Given the description of an element on the screen output the (x, y) to click on. 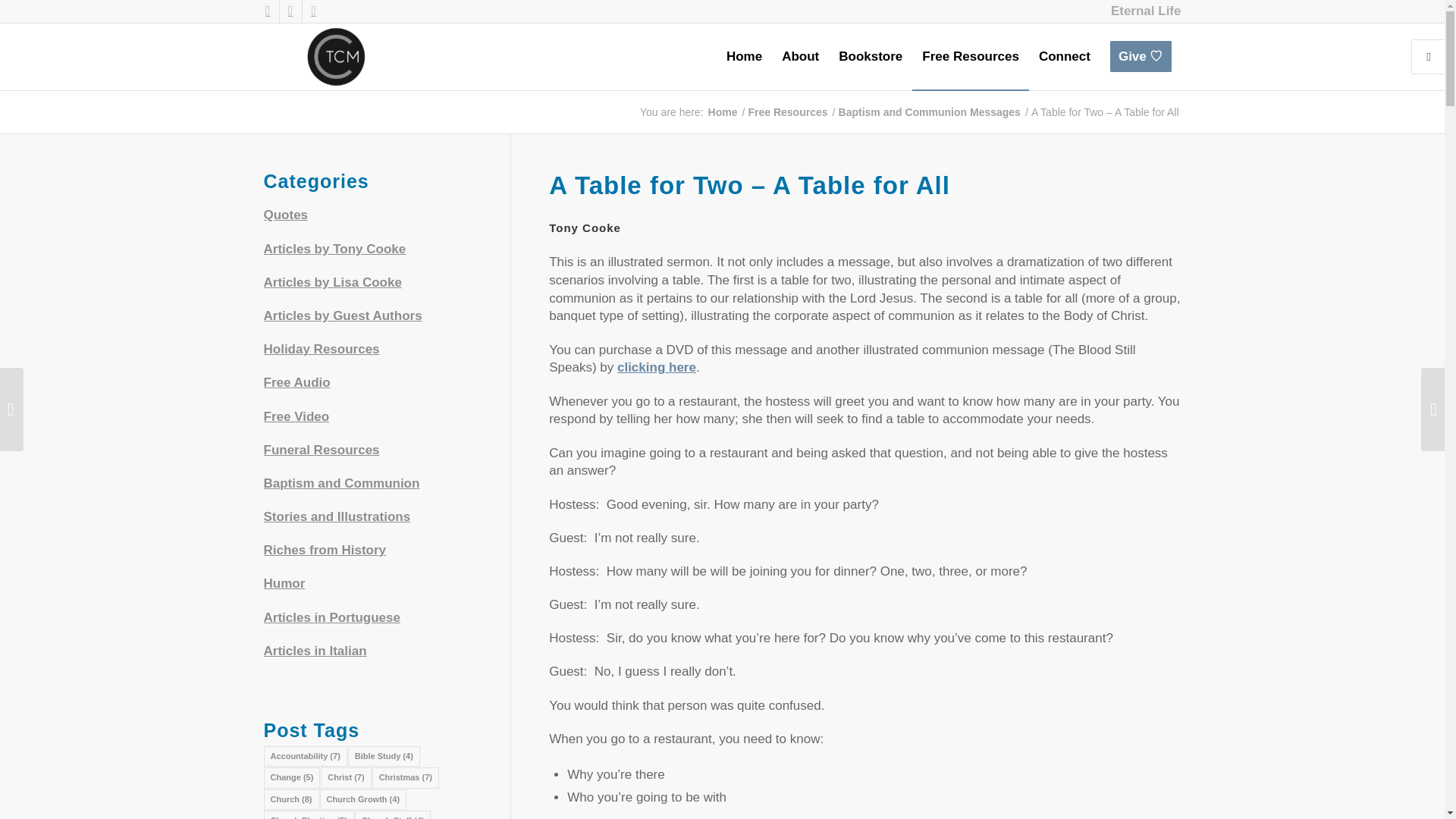
Baptism and Communion Messages (341, 482)
Articles by Lisa Cooke (332, 282)
Stories and Ilustrations (336, 516)
Instagram (312, 11)
Free Resources (787, 112)
Facebook (267, 11)
Tony Cooke Ministries (722, 112)
Free Resources (970, 56)
Downloadable Videos (656, 367)
Articles in Italian (314, 650)
